Given the description of an element on the screen output the (x, y) to click on. 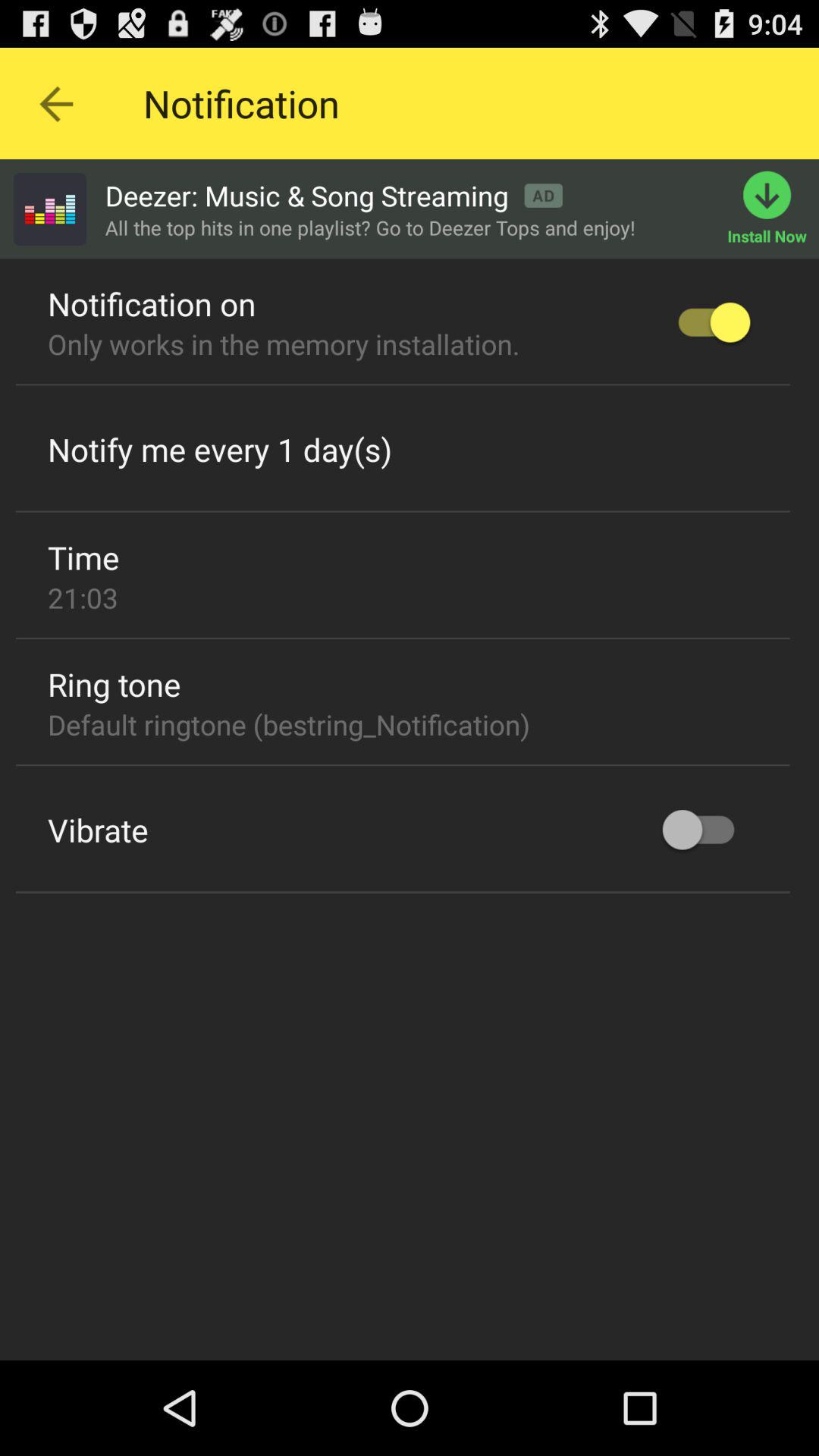
tap the install now (773, 208)
